Given the description of an element on the screen output the (x, y) to click on. 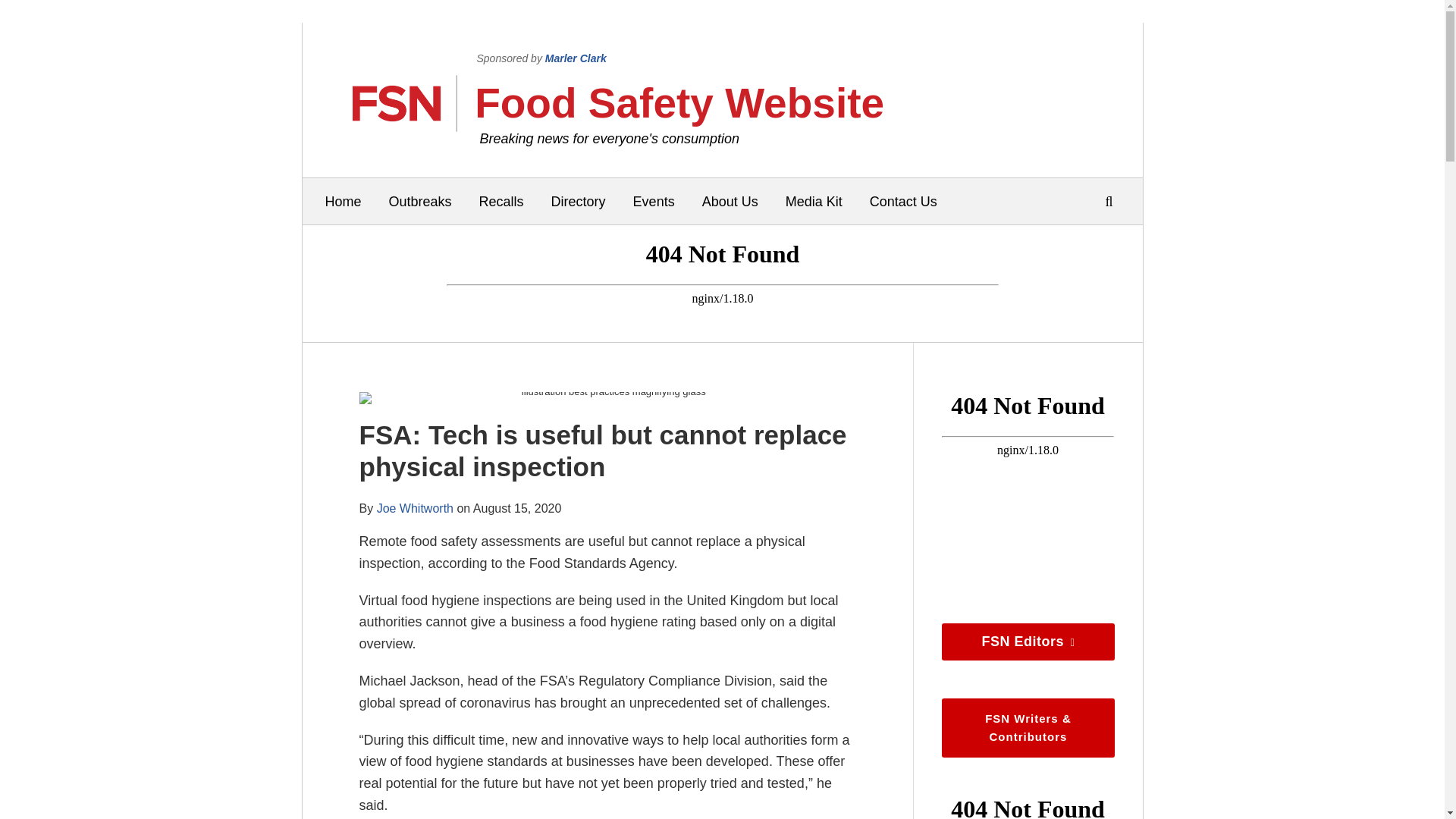
Food Safety Website (678, 102)
Media Kit (814, 201)
Outbreaks (419, 201)
Recalls (501, 201)
Marler Clark (575, 58)
About Us (729, 201)
Joe Whitworth (414, 508)
Contact Us (903, 201)
Events (654, 201)
Home (342, 201)
Directory (578, 201)
